Given the description of an element on the screen output the (x, y) to click on. 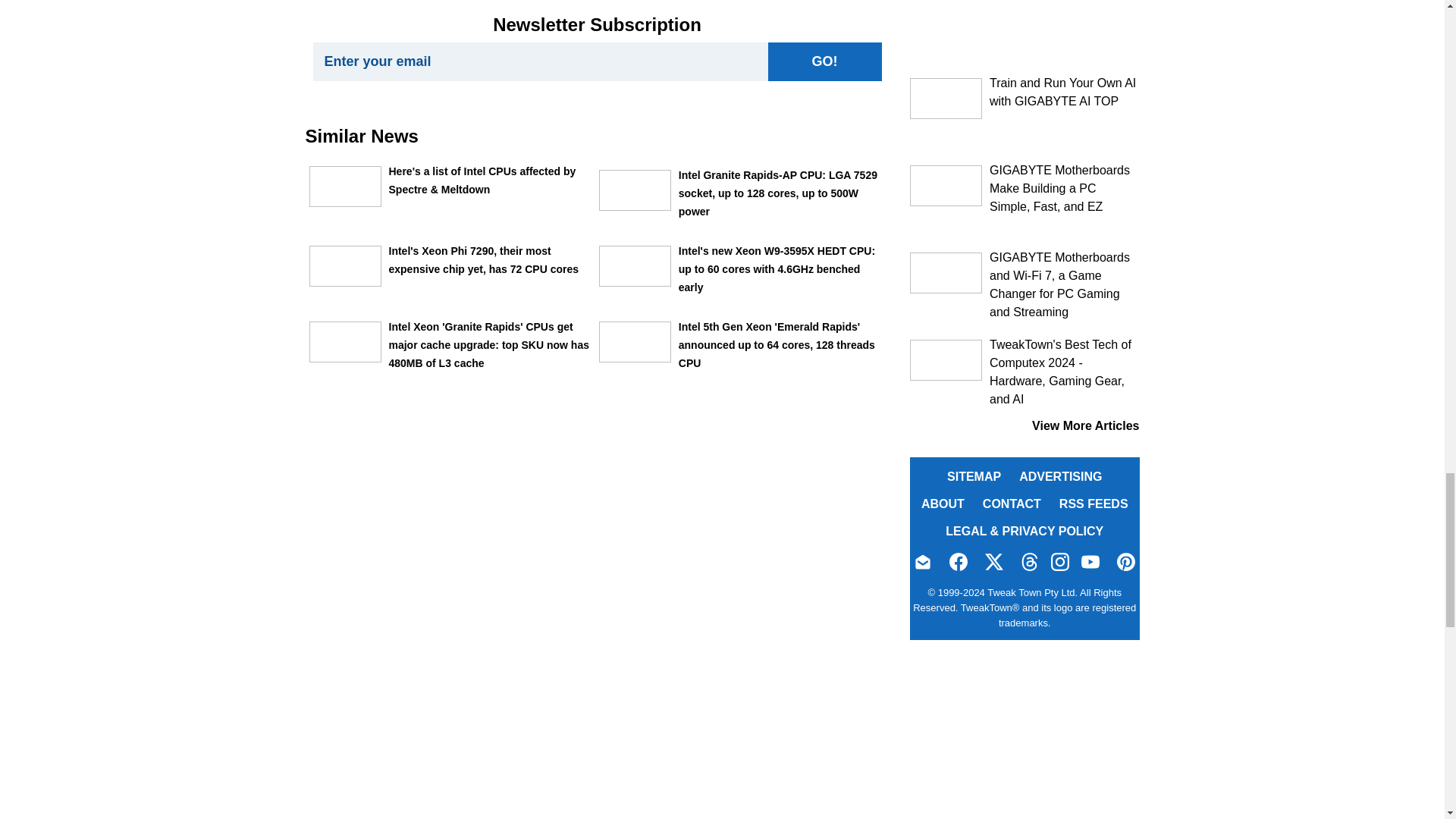
GO! (823, 61)
